Given the description of an element on the screen output the (x, y) to click on. 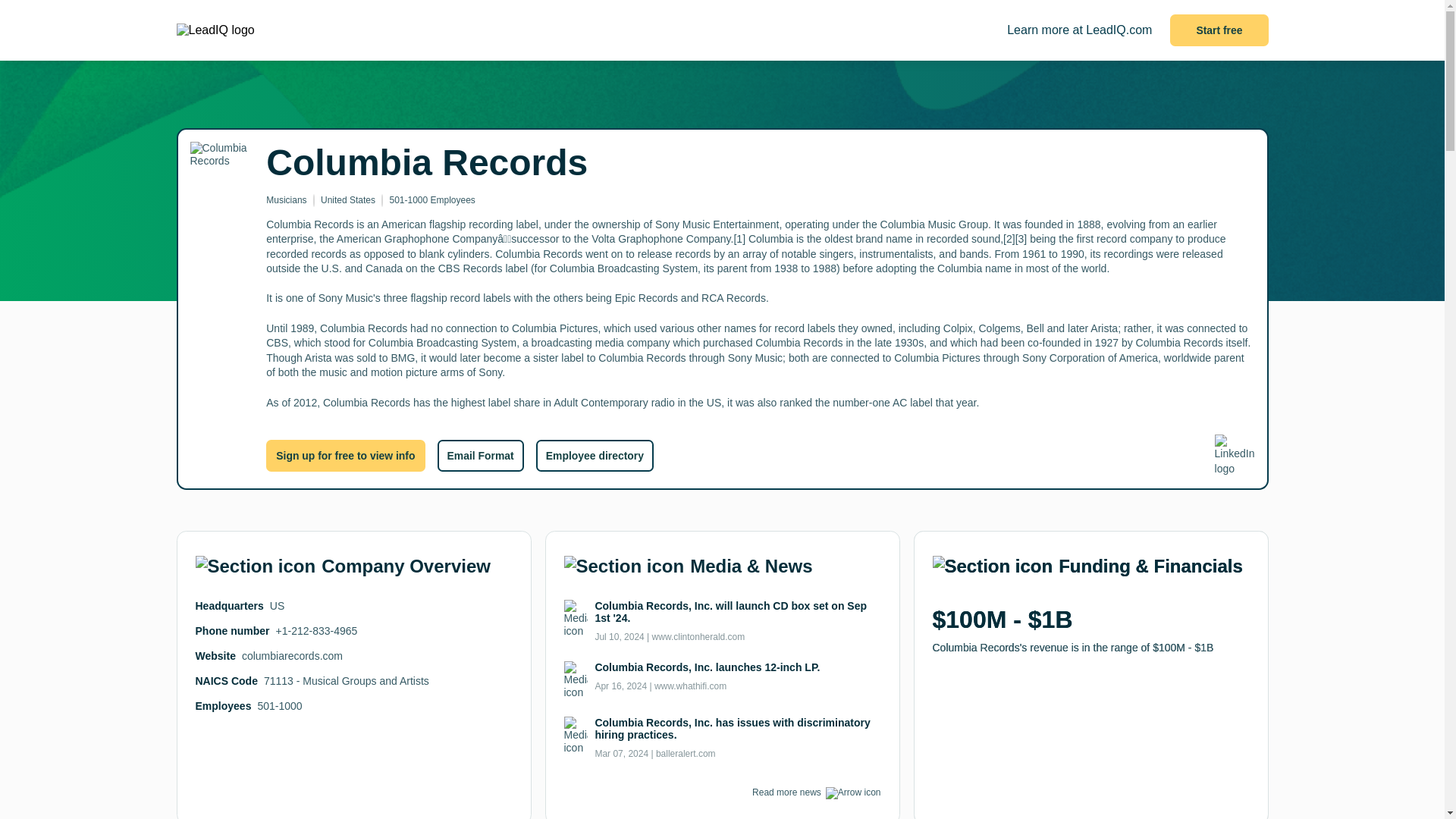
Learn more at LeadIQ.com (1079, 29)
Start free (1219, 29)
Employee directory (594, 455)
Email Format (479, 455)
Sign up for free to view info (345, 455)
columbiarecords.com (291, 655)
